Given the description of an element on the screen output the (x, y) to click on. 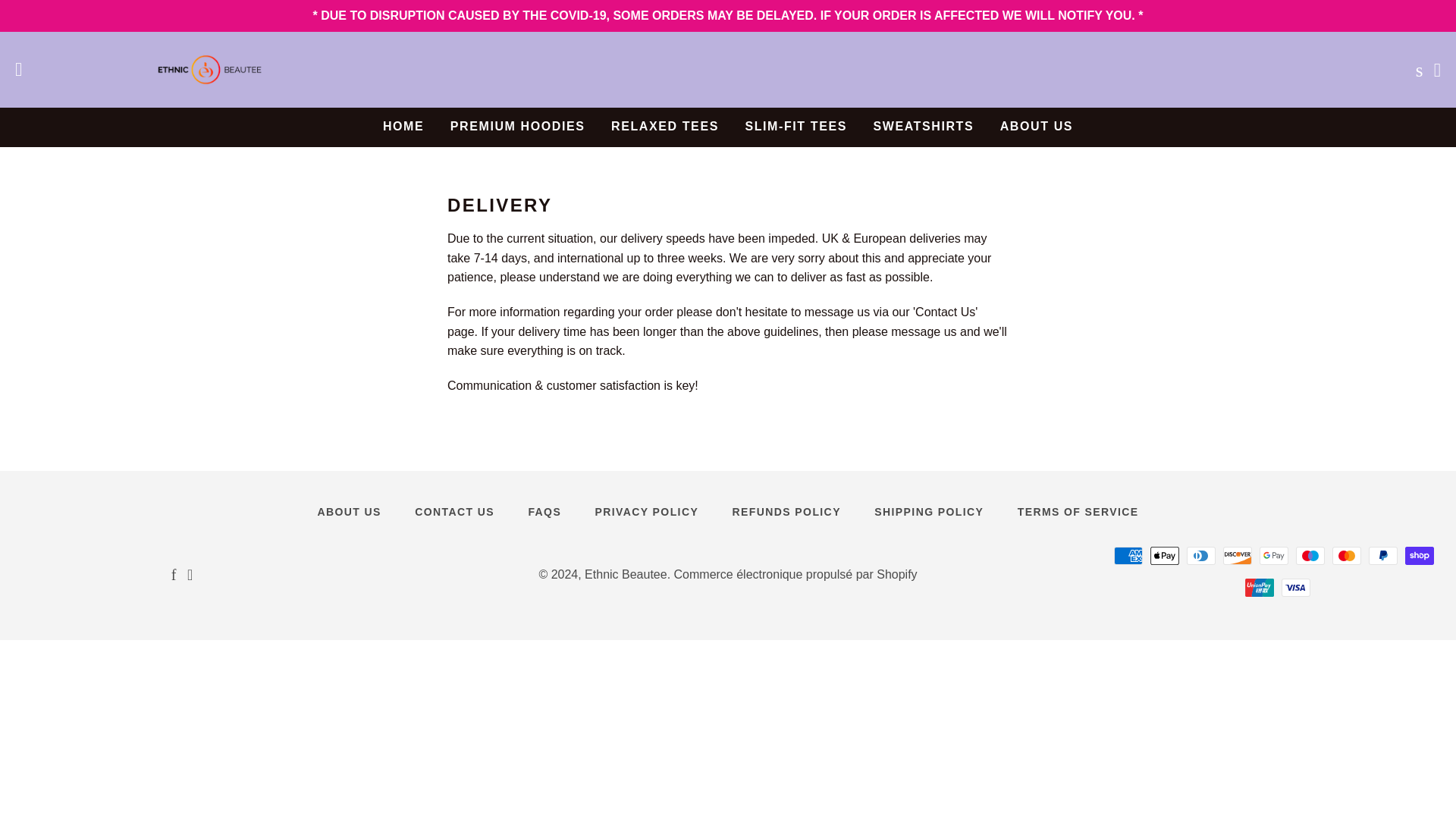
Recherche (1415, 69)
Diners Club (1200, 556)
SHIPPING POLICY (928, 512)
Ethnic Beautee sur Facebook (173, 575)
RELAXED TEES (664, 126)
SWEATSHIRTS (923, 126)
Apple Pay (1164, 556)
Facebook (173, 575)
REFUNDS POLICY (786, 512)
TERMS OF SERVICE (1078, 512)
Instagram (189, 575)
ABOUT US (1036, 126)
ABOUT US (348, 512)
PREMIUM HOODIES (517, 126)
Panier (1437, 69)
